Given the description of an element on the screen output the (x, y) to click on. 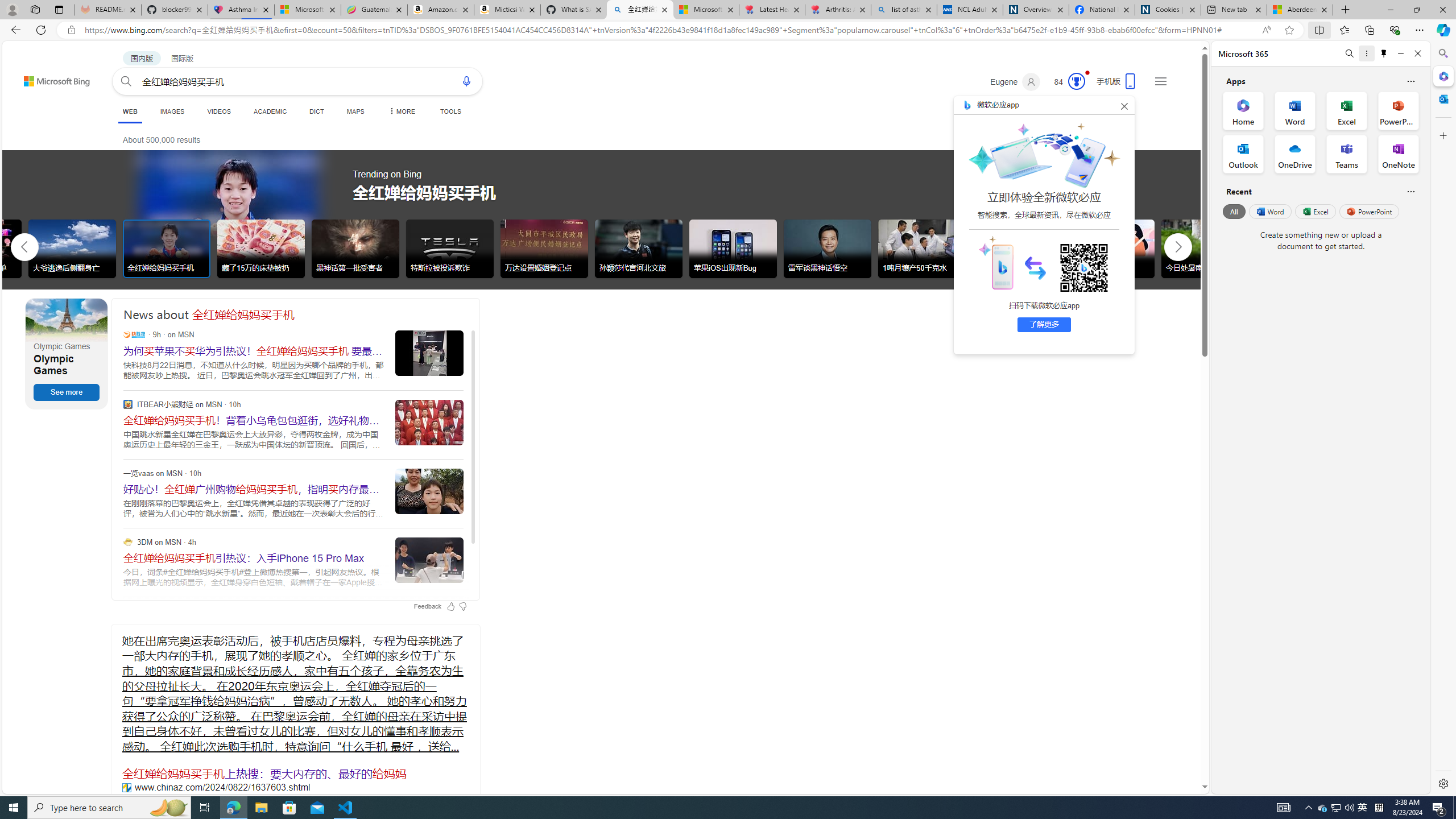
MORE (400, 111)
Feedback Dislike (462, 605)
